Given the description of an element on the screen output the (x, y) to click on. 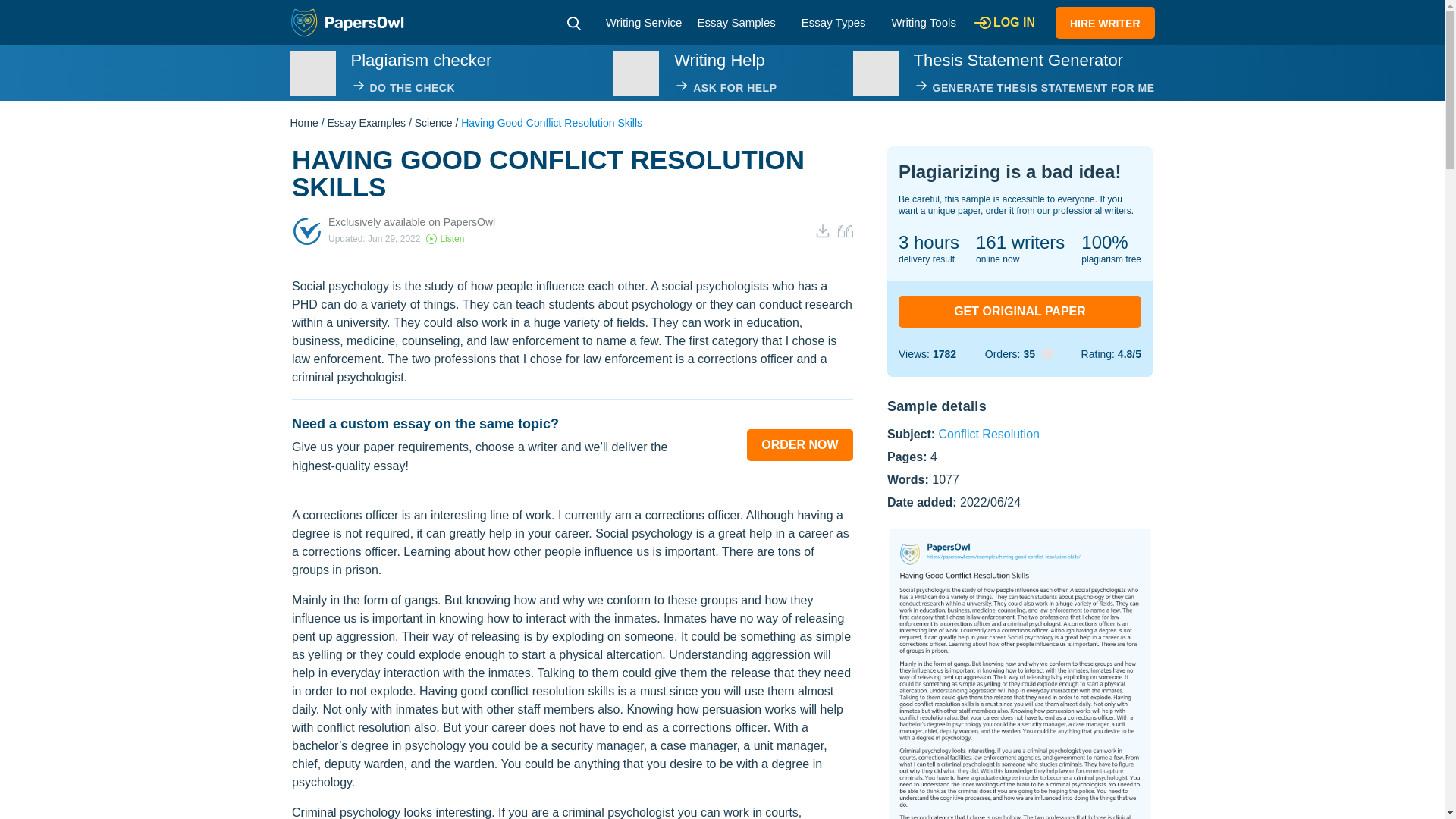
Having Good Conflict Resolution Skills (1019, 672)
image (311, 72)
Writing Service (643, 21)
image (635, 72)
image (875, 72)
